Given the description of an element on the screen output the (x, y) to click on. 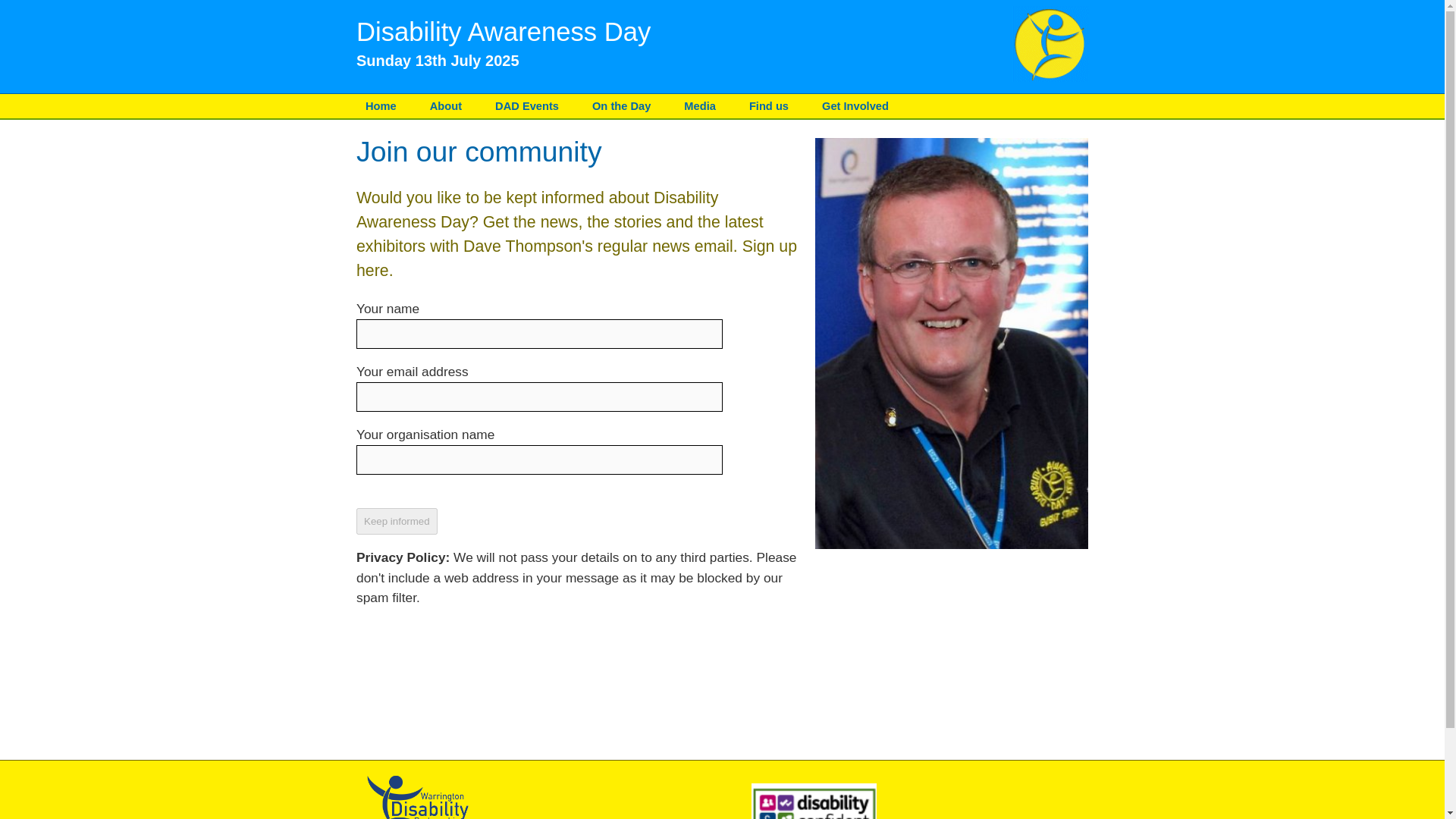
Home (381, 105)
Keep informed (397, 520)
Get Involved (855, 105)
DAD Events (526, 105)
On the Day (621, 105)
About (445, 105)
Keep informed (397, 520)
Find us (768, 105)
Media (700, 105)
